Given the description of an element on the screen output the (x, y) to click on. 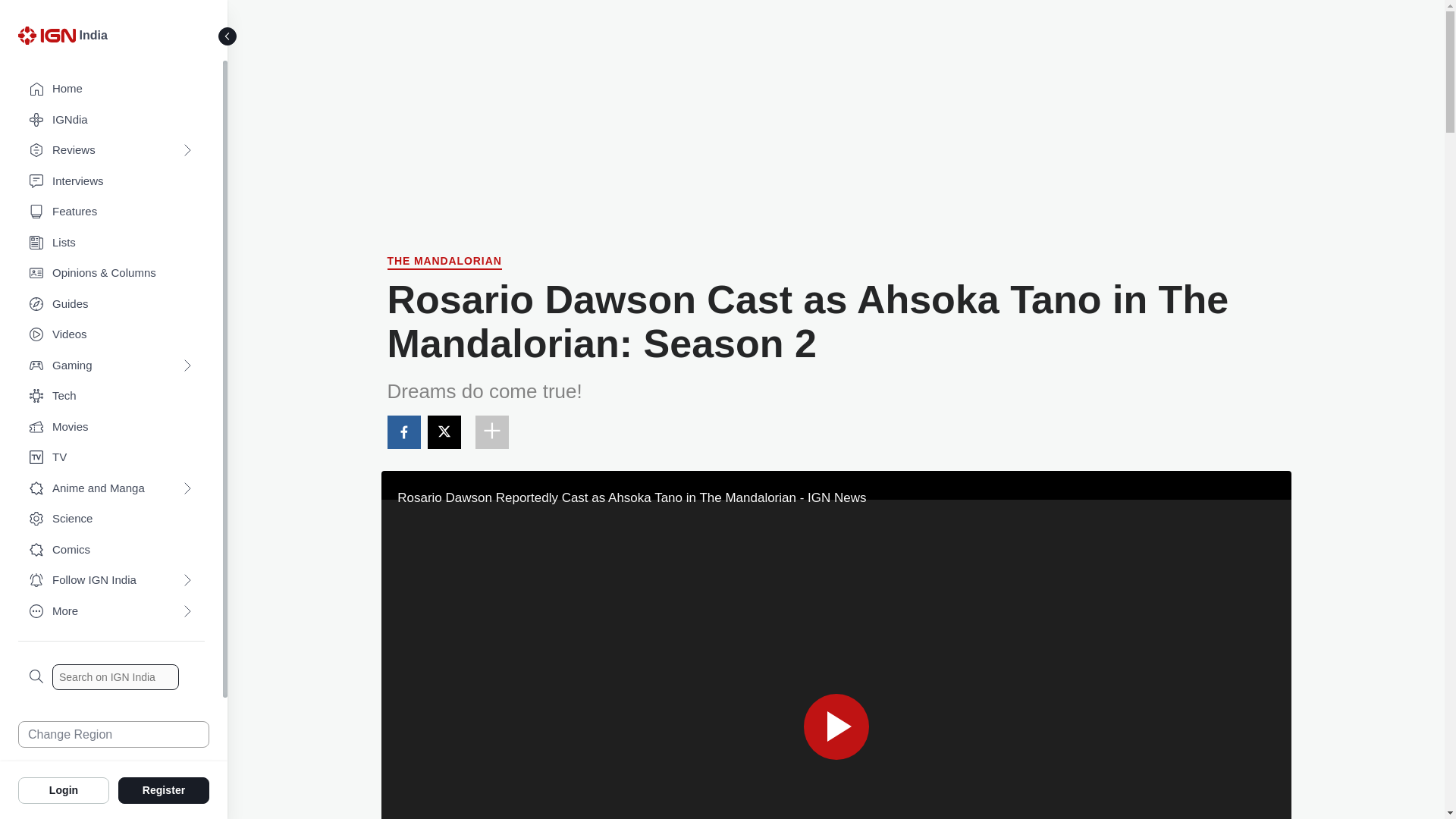
IGN Logo (46, 34)
Videos (111, 334)
Anime and Manga (111, 487)
Follow IGN India (111, 580)
Movies (111, 427)
Guides (111, 304)
Tech (111, 396)
Reviews (111, 150)
IGNdia (111, 119)
Toggle Sidebar (226, 36)
